Given the description of an element on the screen output the (x, y) to click on. 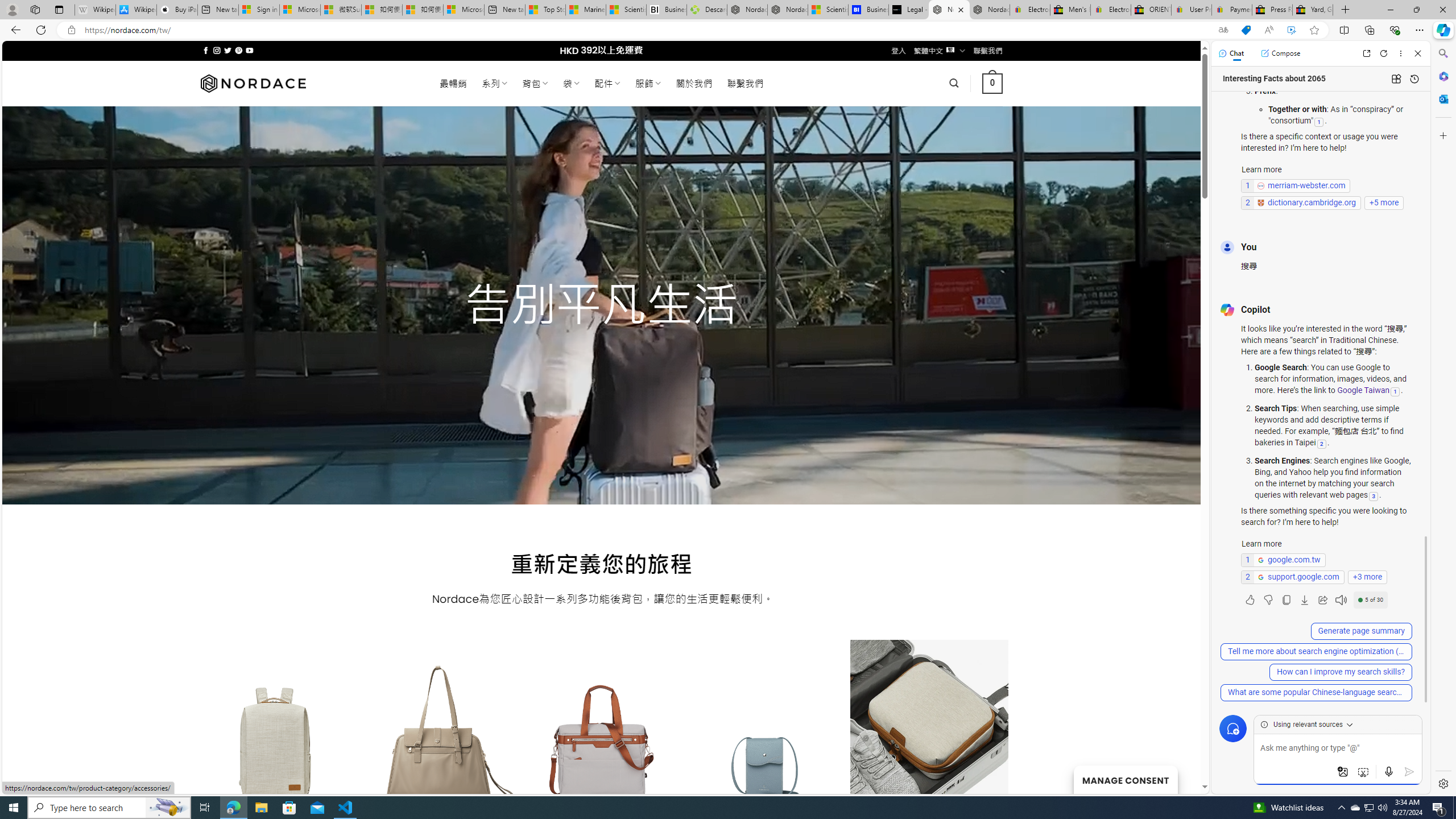
  0   (992, 83)
